Given the description of an element on the screen output the (x, y) to click on. 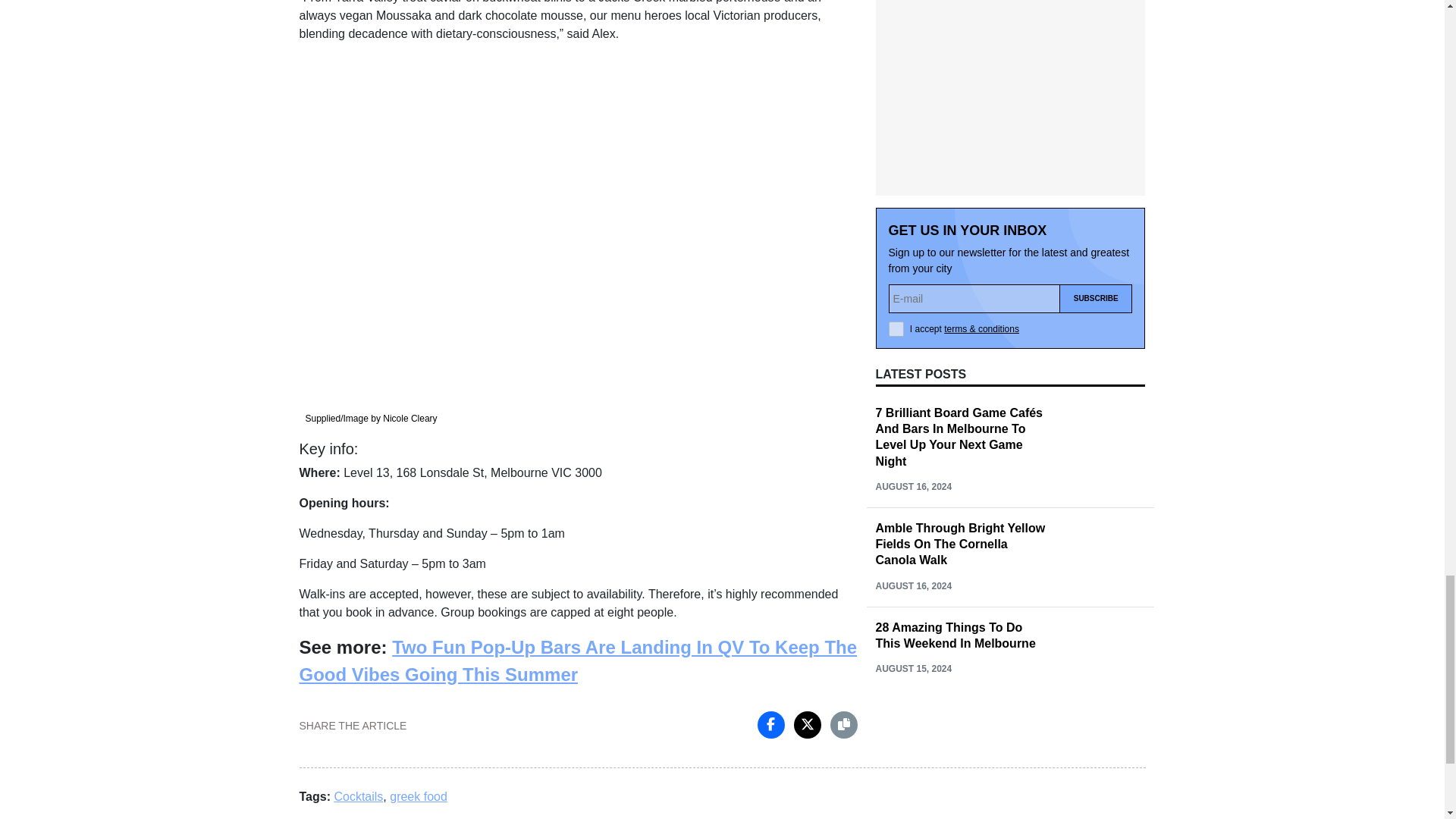
Cocktails (357, 796)
greek food (418, 796)
